Given the description of an element on the screen output the (x, y) to click on. 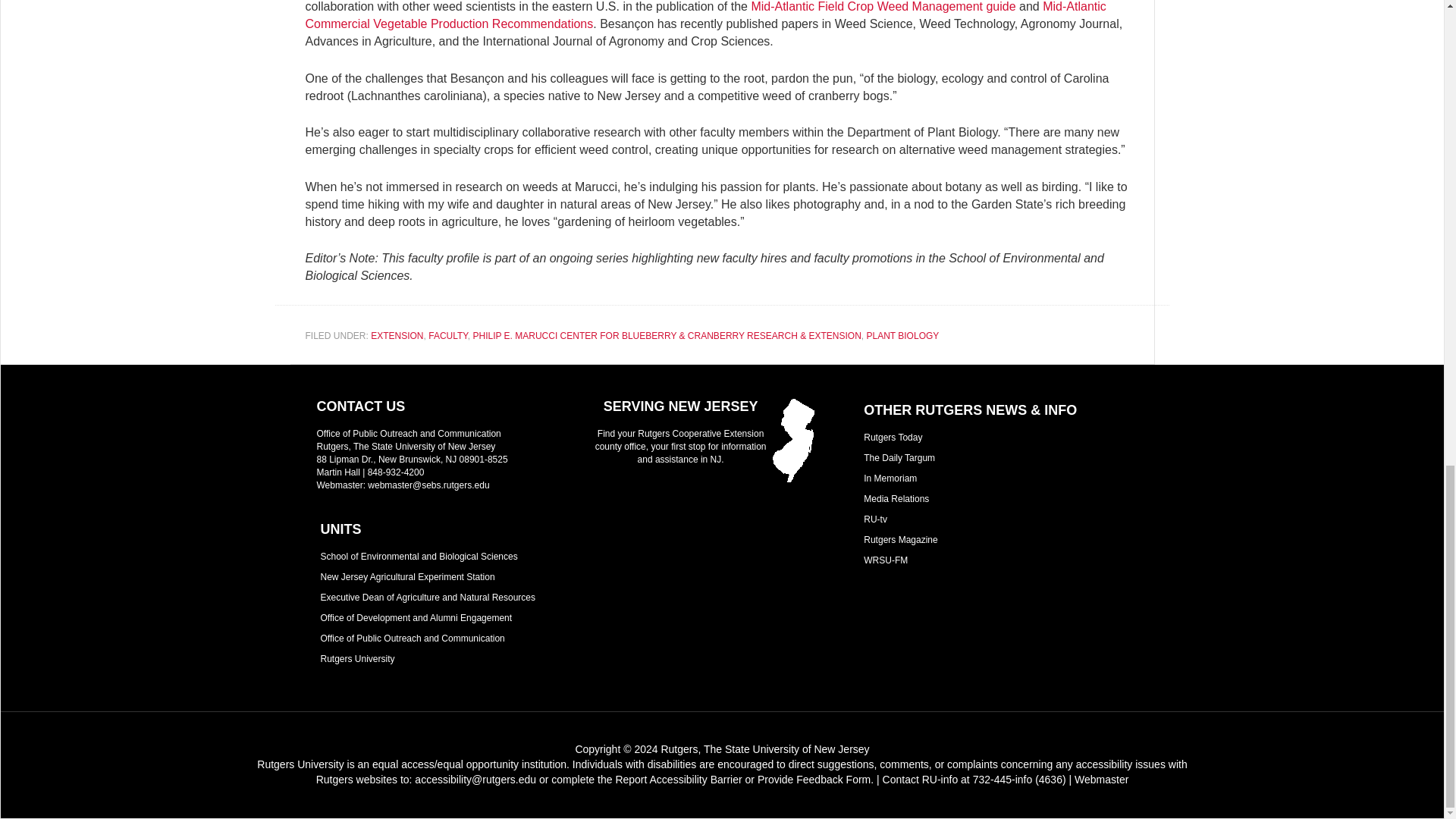
Mid-Atlantic Commercial Vegetable Production Recommendations (704, 15)
FACULTY (447, 335)
EXTENSION (397, 335)
PLANT BIOLOGY (902, 335)
Mid-Atlantic Field Crop Weed Management guide (882, 6)
